Given the description of an element on the screen output the (x, y) to click on. 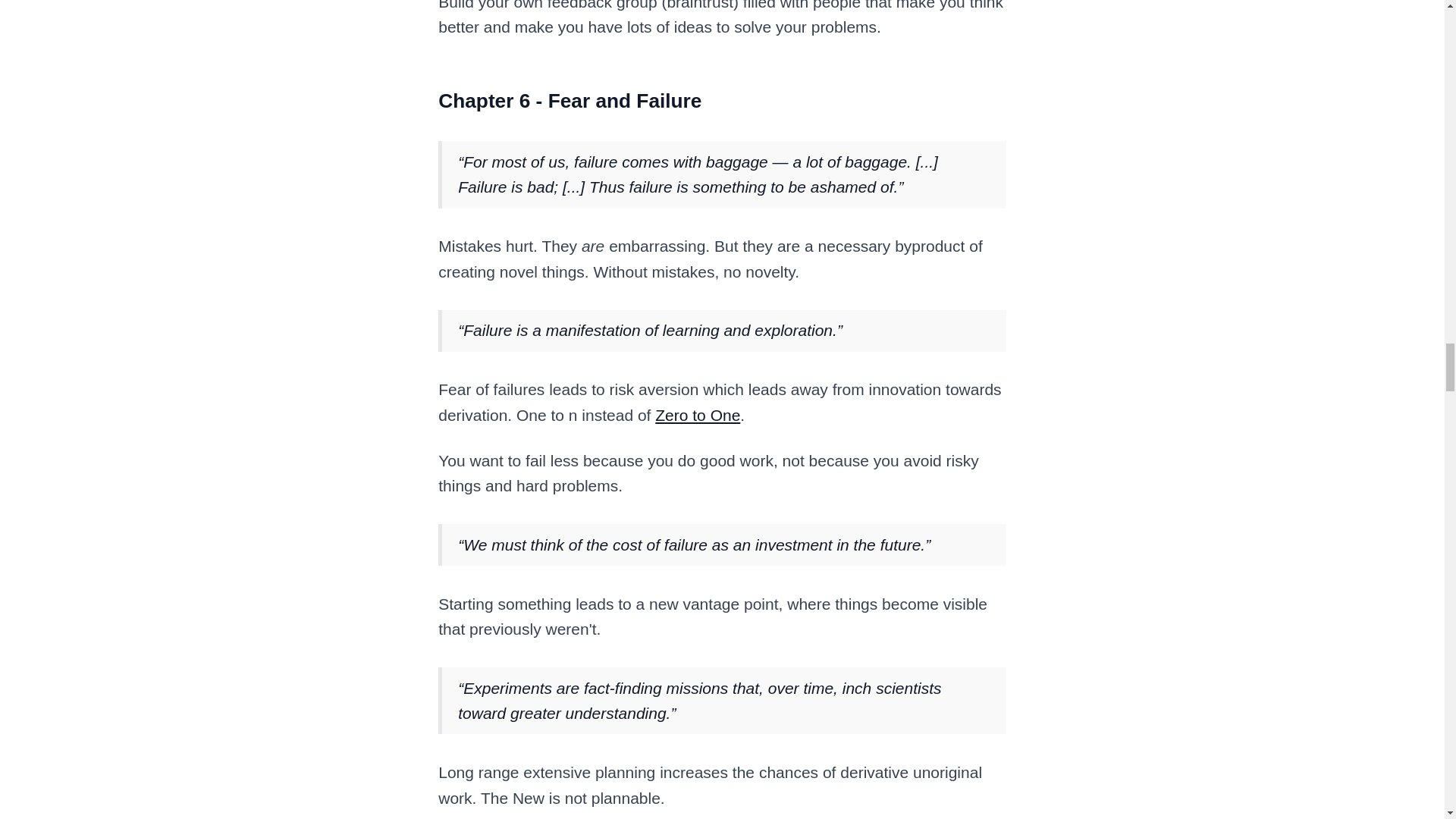
Zero to One (697, 415)
